Given the description of an element on the screen output the (x, y) to click on. 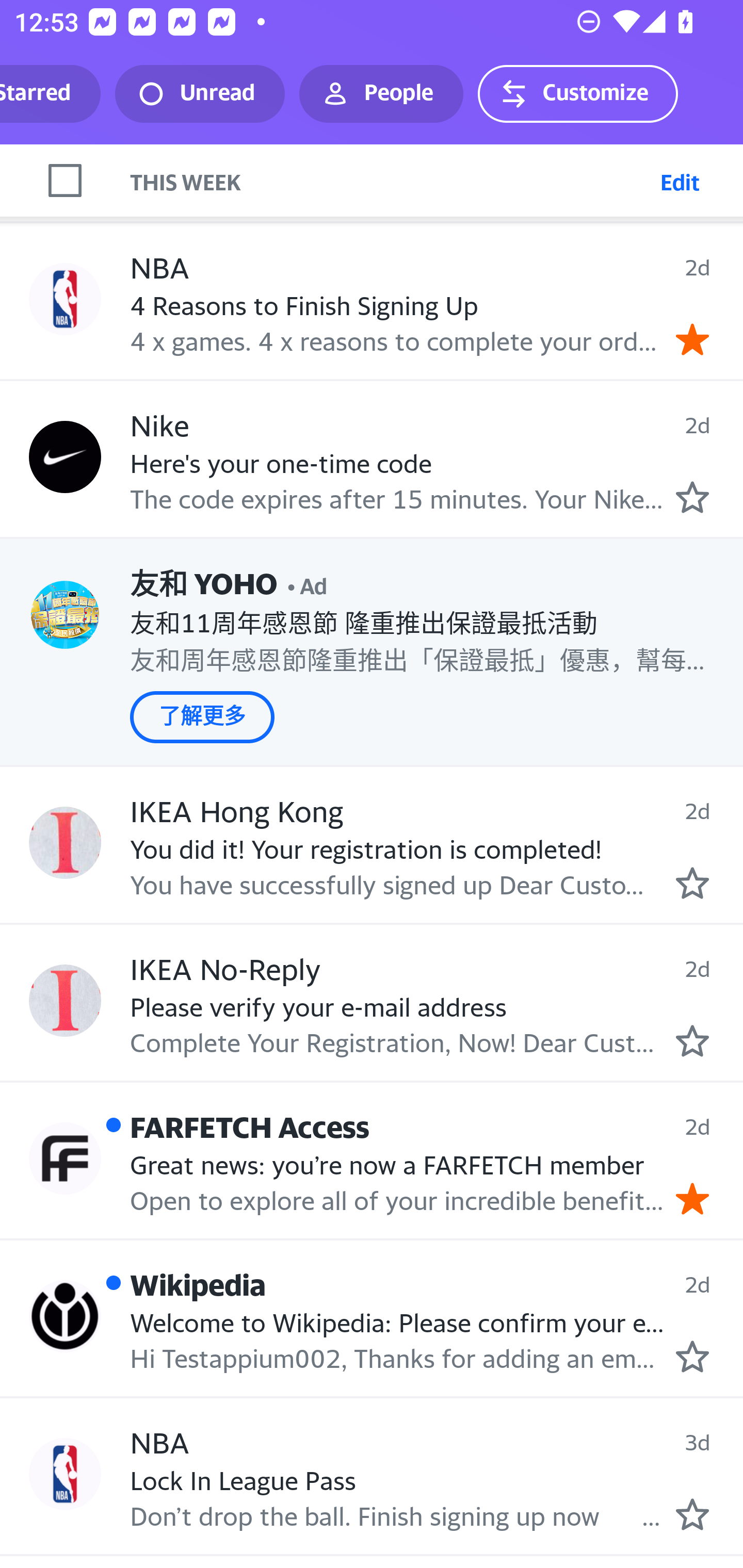
Unread (199, 93)
People (381, 93)
Customize (577, 93)
Profile
NBA (64, 299)
Remove star. (692, 339)
Profile
Nike (64, 456)
Mark as starred. (692, 497)
Profile
IKEA Hong Kong (64, 842)
Mark as starred. (692, 883)
Profile
IKEA No-Reply (64, 1000)
Mark as starred. (692, 1040)
Profile
FARFETCH Access (64, 1158)
Remove star. (692, 1198)
Profile
Wikipedia (64, 1315)
Mark as starred. (692, 1357)
Profile
NBA (64, 1473)
Mark as starred. (692, 1513)
